Given the description of an element on the screen output the (x, y) to click on. 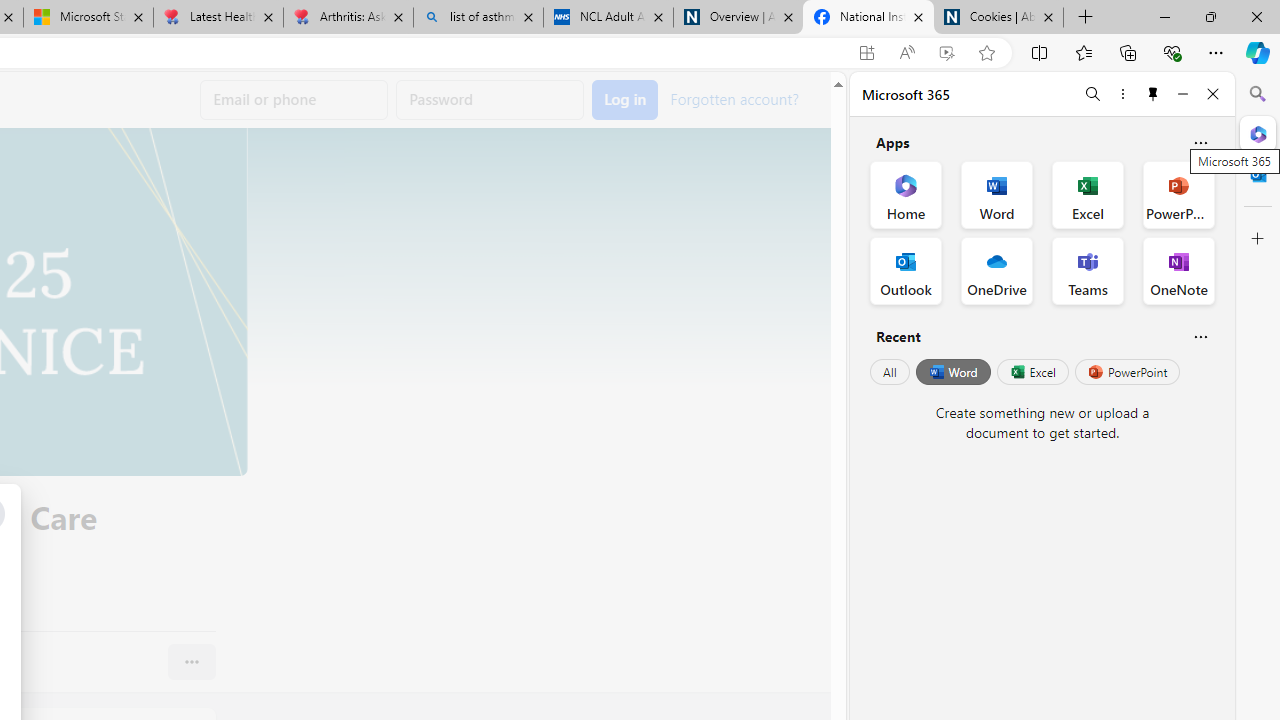
Cookies | About | NICE (998, 17)
Word (952, 372)
Word Office App (996, 194)
OneDrive Office App (996, 270)
Unpin side pane (1153, 93)
list of asthma inhalers uk - Search (477, 17)
Teams Office App (1087, 270)
All (890, 372)
PowerPoint (1127, 372)
Forgotten account? (733, 97)
